Given the description of an element on the screen output the (x, y) to click on. 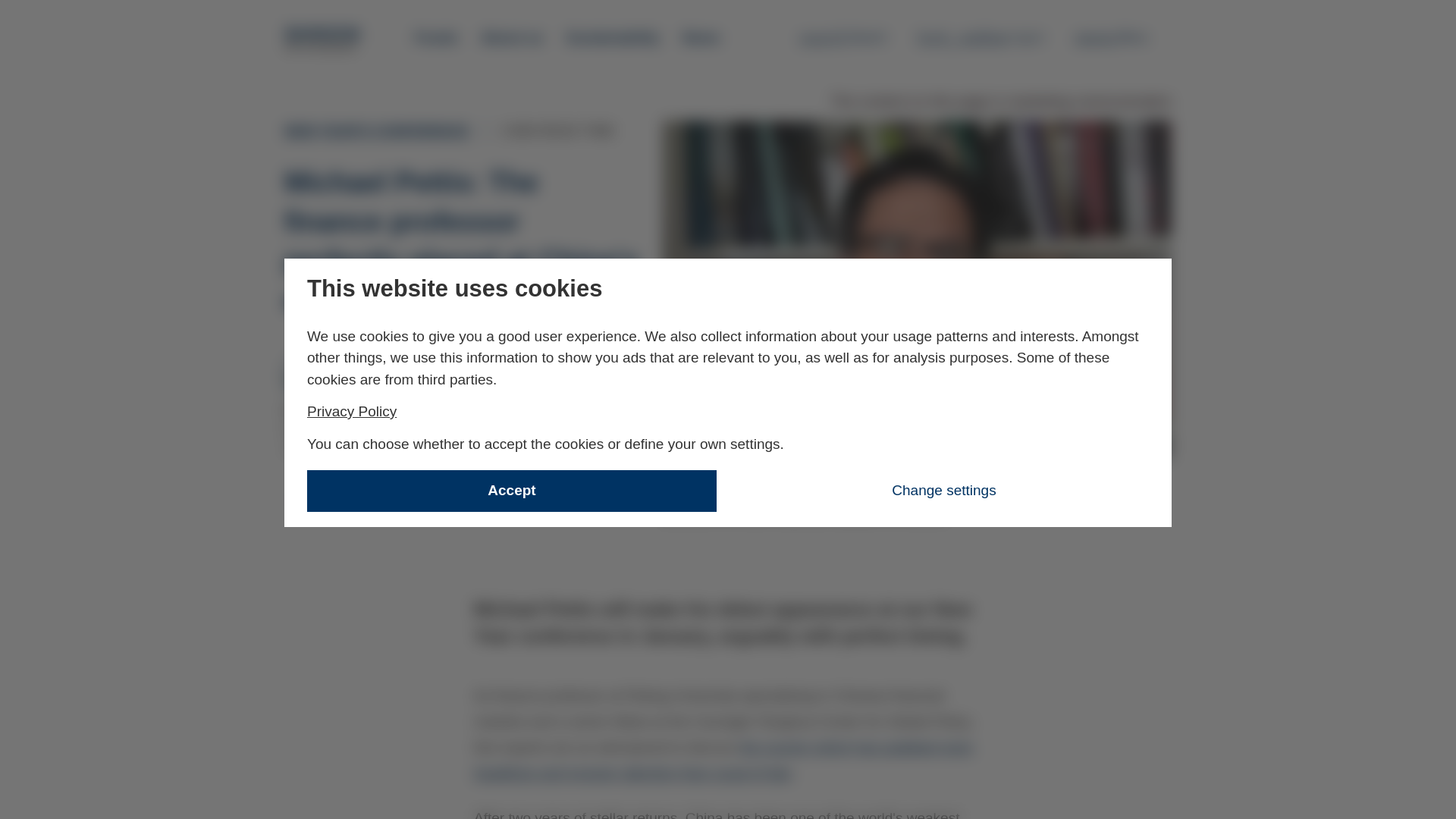
Sustainability (612, 37)
About us (842, 37)
China (511, 37)
Nick Henderson (314, 499)
SKAGEN Funds (351, 411)
Funds (323, 39)
